Given the description of an element on the screen output the (x, y) to click on. 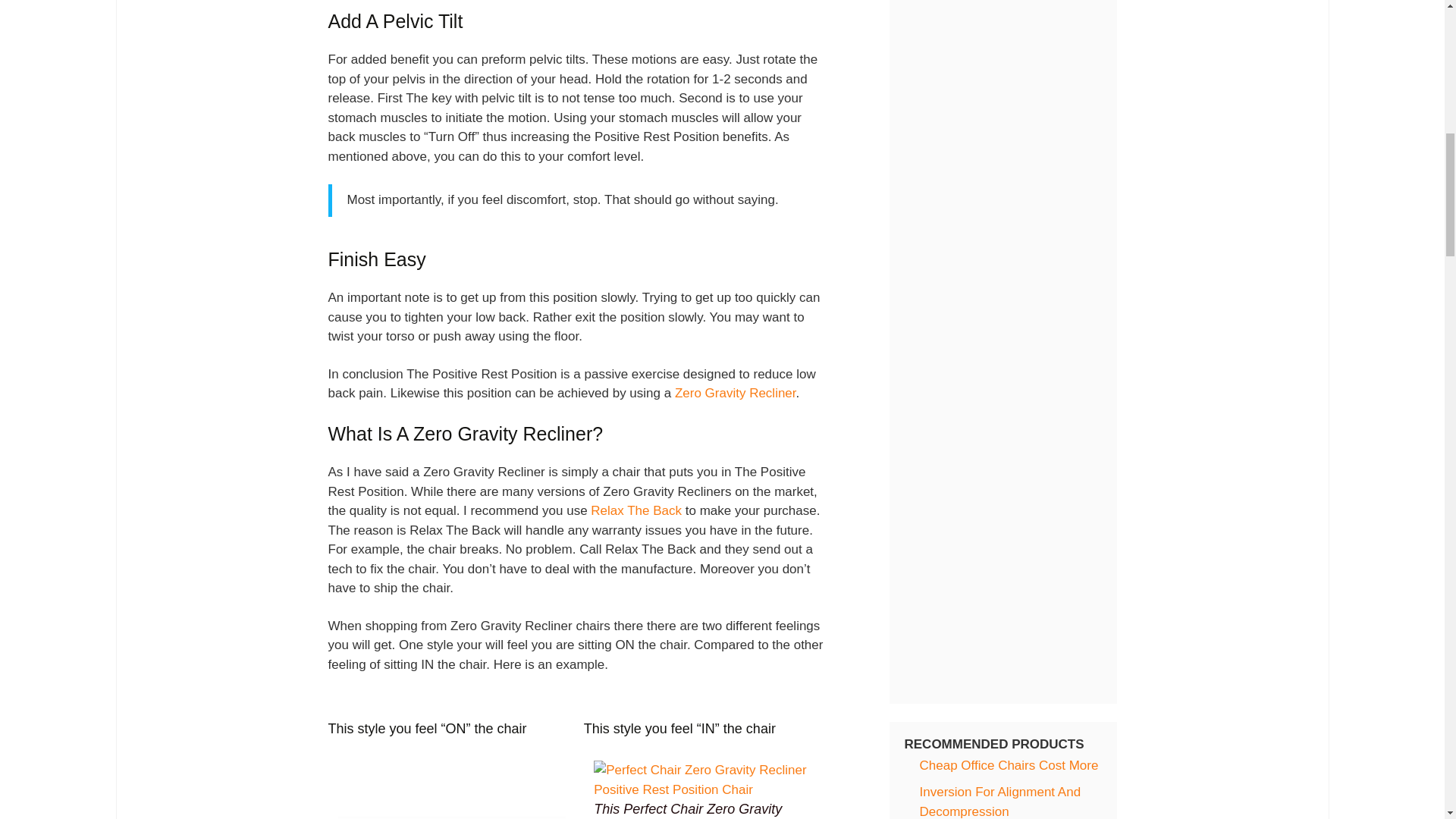
Novus Chair puts you in the Positive Rest Position (451, 789)
Relax The Back (636, 510)
Zero Gravity Recliner (735, 392)
Shop Amazon For Zero Gravity Recliner (735, 392)
Shop Zero Gravity Recliners At Relax The Back (636, 510)
Perfect Chair puts you in the Positive Rest Position (707, 779)
